Given the description of an element on the screen output the (x, y) to click on. 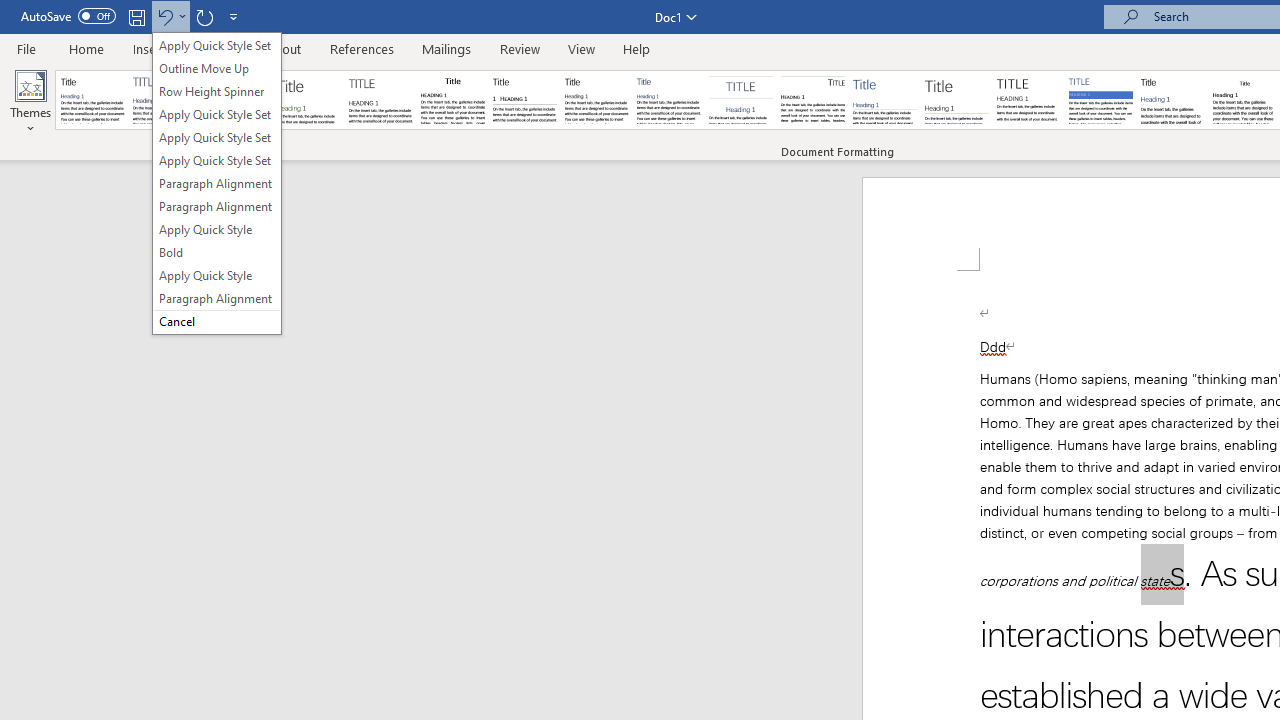
Black & White (Capitalized) (381, 100)
Black & White (Word 2013) (596, 100)
Minimalist (1028, 100)
Word (1172, 100)
Centered (740, 100)
Lines (Stylish) (957, 100)
Casual (669, 100)
Lines (Distinctive) (812, 100)
Themes (30, 102)
Black & White (Classic) (452, 100)
